Given the description of an element on the screen output the (x, y) to click on. 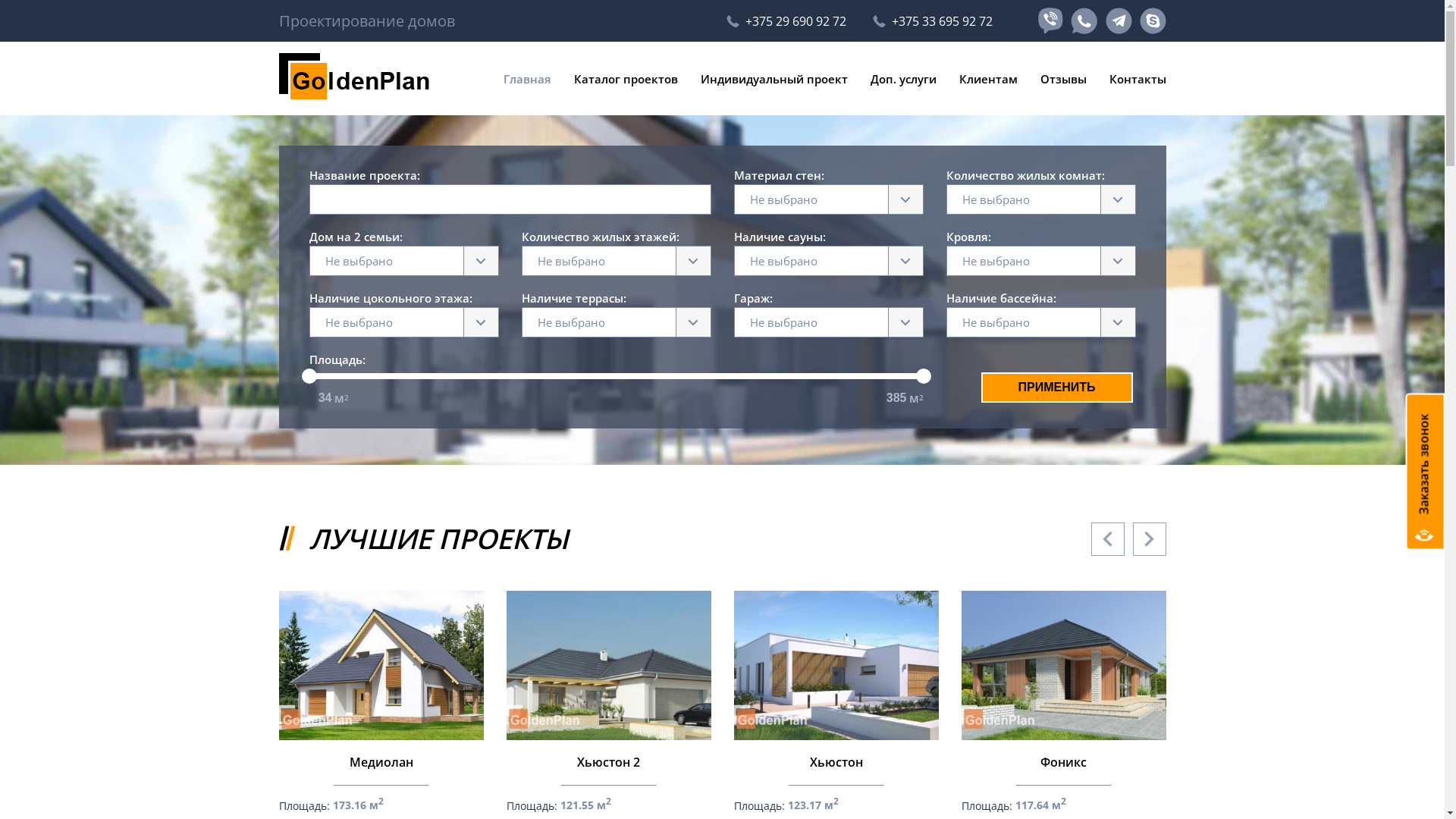
Next Element type: text (1149, 538)
+375 33 695 92 72 Element type: text (931, 21)
+375 29 690 92 72 Element type: text (786, 21)
Previous Element type: text (1106, 538)
